Given the description of an element on the screen output the (x, y) to click on. 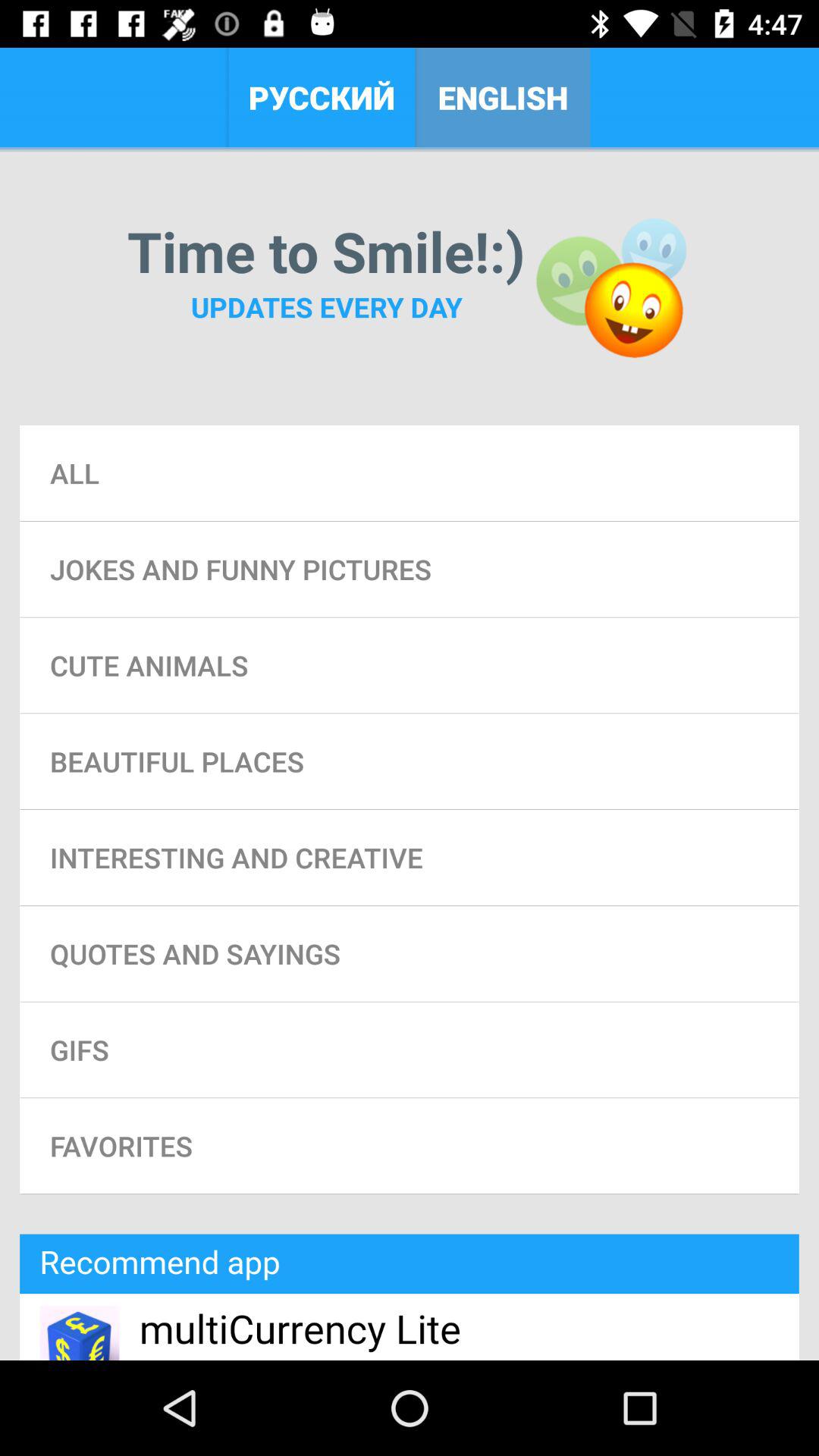
select the icon below the interesting and creative item (409, 953)
